Given the description of an element on the screen output the (x, y) to click on. 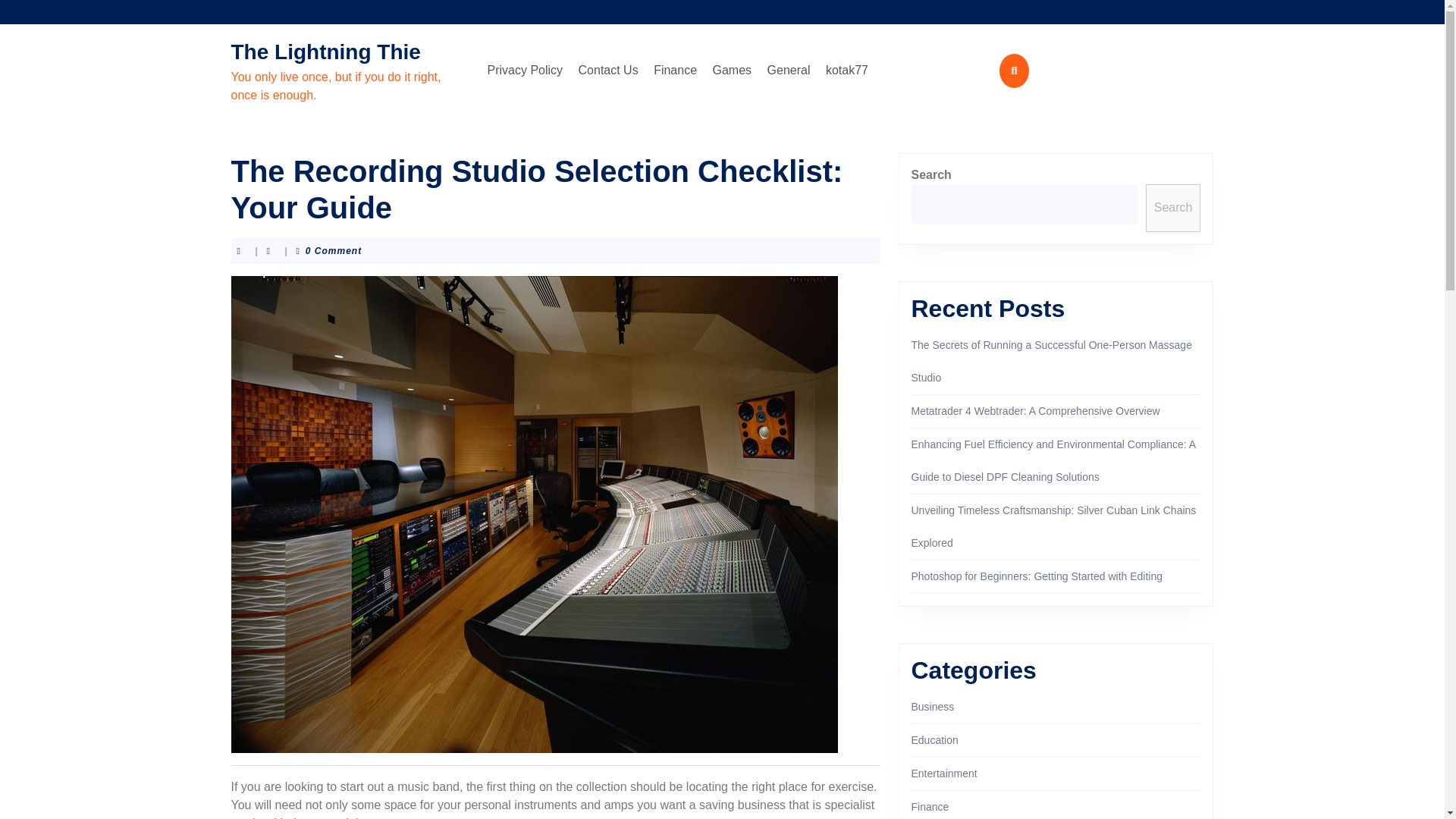
Metatrader 4 Webtrader: A Comprehensive Overview (1035, 410)
Business (933, 706)
Search (1173, 207)
Finance (675, 70)
Photoshop for Beginners: Getting Started with Editing (1037, 576)
Finance (930, 806)
Education (934, 739)
Contact Us (608, 70)
kotak77 (847, 70)
Games (732, 70)
Entertainment (943, 773)
The Lightning Thie (325, 51)
